Given the description of an element on the screen output the (x, y) to click on. 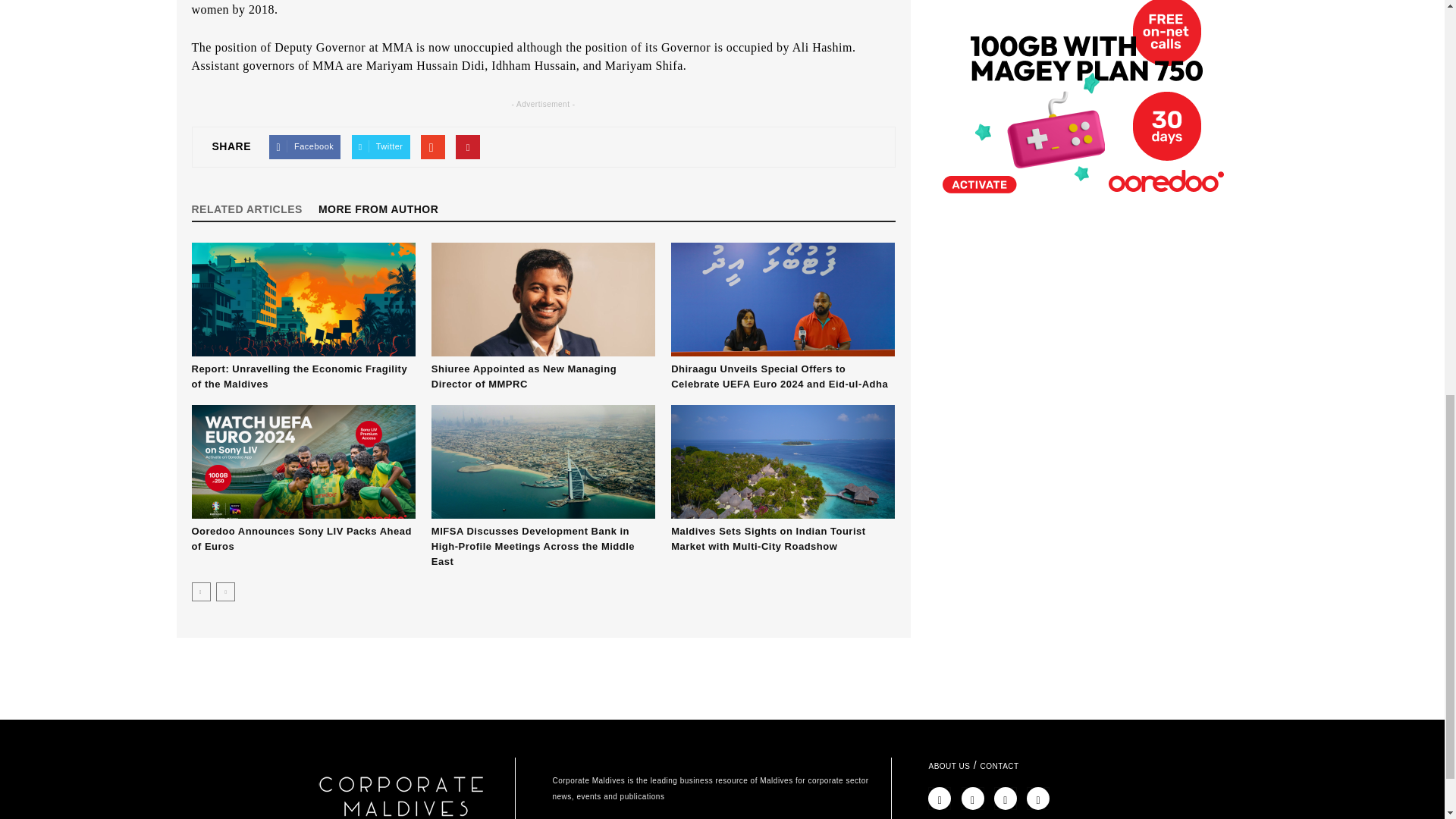
Shiuree Appointed as New Managing Director of MMPRC (522, 376)
Report: Unravelling the Economic Fragility of the Maldives (302, 299)
Ooredoo Announces Sony LIV Packs Ahead of Euros (300, 538)
Report: Unravelling the Economic Fragility of the Maldives (298, 376)
Twitter (381, 146)
Facebook (304, 146)
Shiuree Appointed as New Managing Director of MMPRC (542, 299)
Ooredoo Announces Sony LIV Packs Ahead of Euros (302, 461)
